Given the description of an element on the screen output the (x, y) to click on. 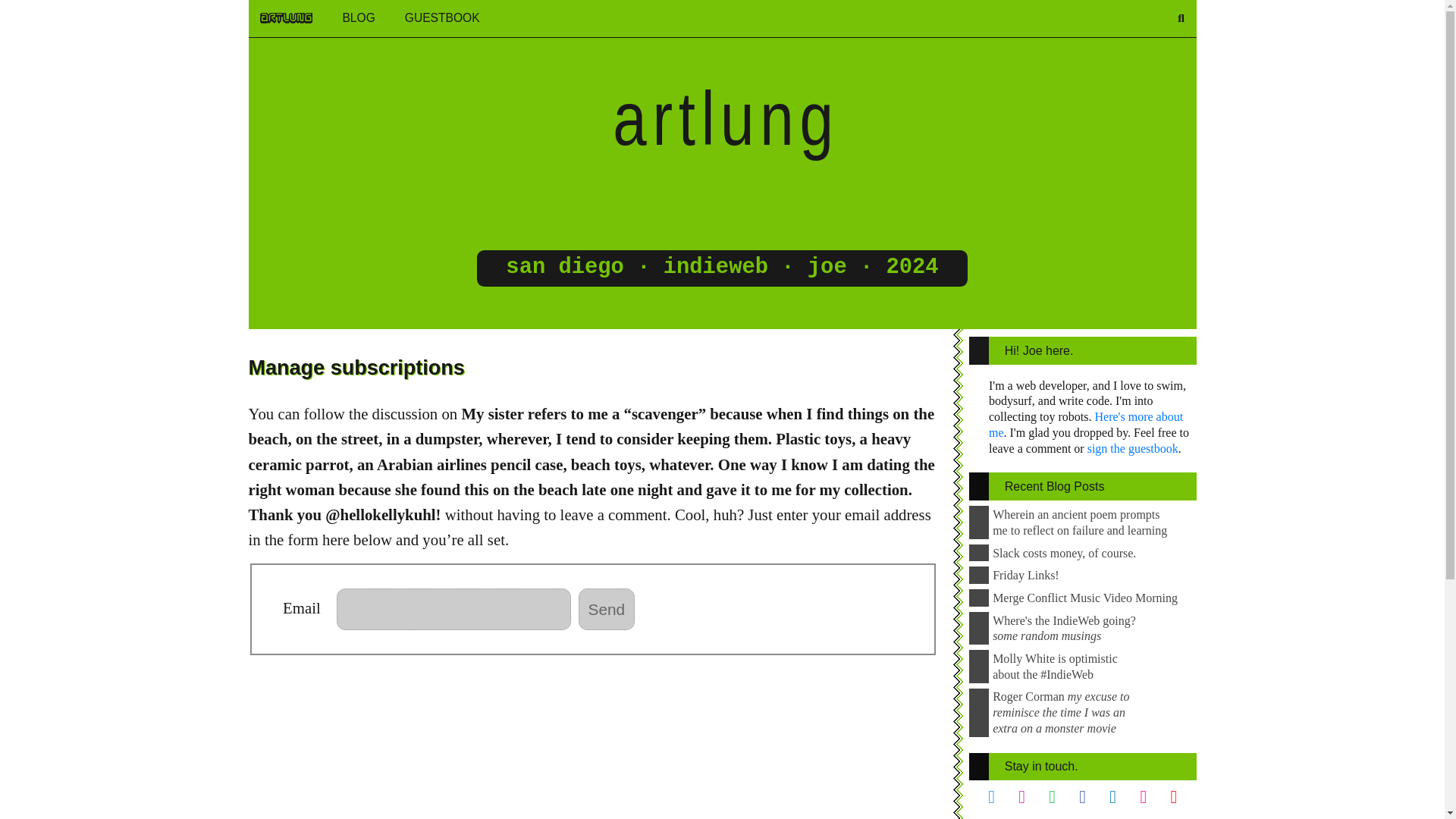
BLOG (358, 18)
Manage subscriptions (356, 367)
Send (606, 608)
August 2024 (912, 267)
Crawford (827, 267)
Send (606, 608)
possibly brat (753, 118)
ARTLUNG (286, 18)
personal website and blog since the 20th century (715, 267)
GUESTBOOK (442, 18)
